Given the description of an element on the screen output the (x, y) to click on. 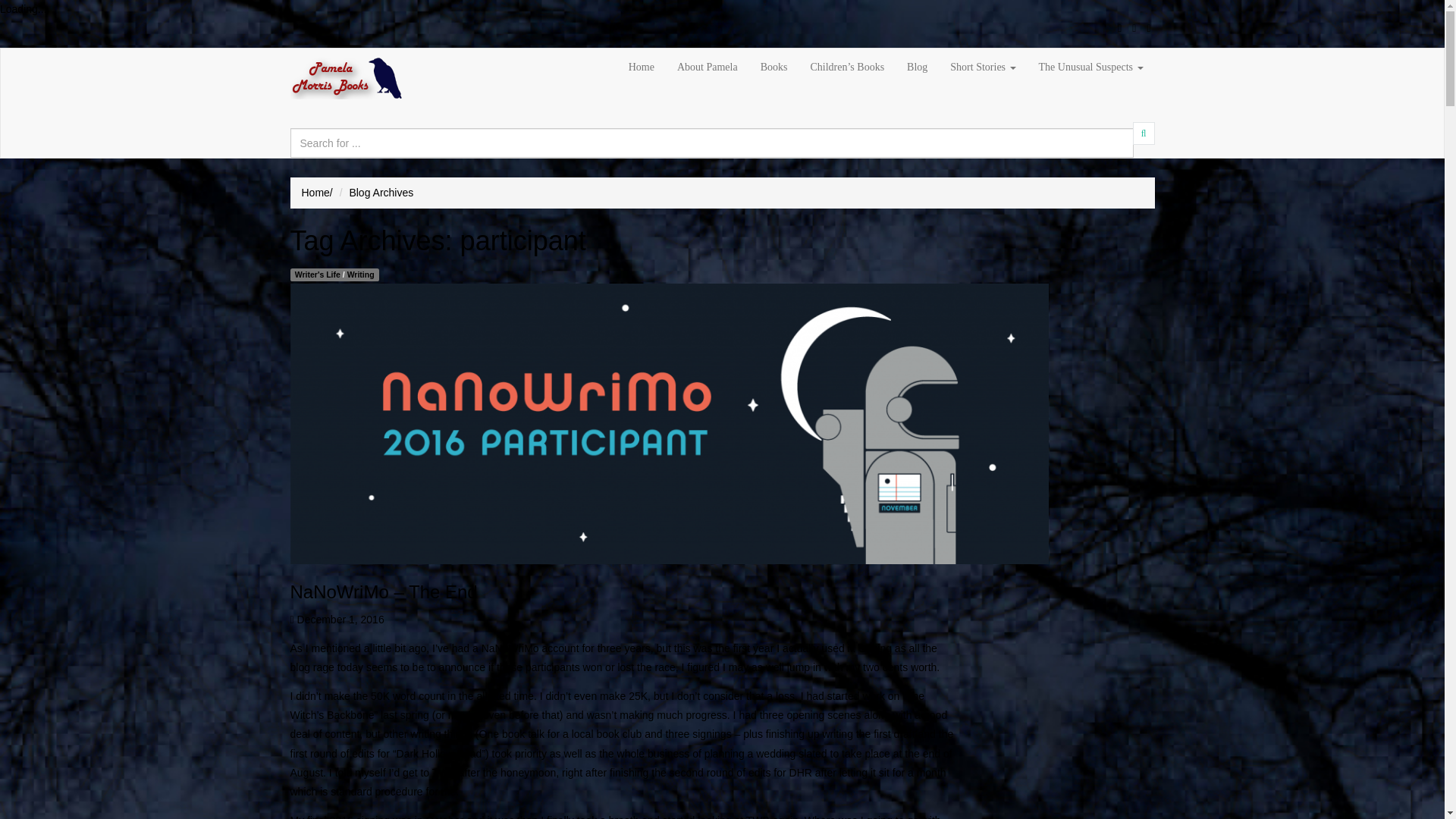
Pamela Morris (346, 77)
Books (774, 67)
About Pamela (707, 67)
Short Stories (982, 67)
Blog (917, 67)
The Unusual Suspects (1090, 67)
Writer's Life (317, 274)
December 1, 2016 (340, 619)
Books (774, 67)
Home (315, 192)
